Given the description of an element on the screen output the (x, y) to click on. 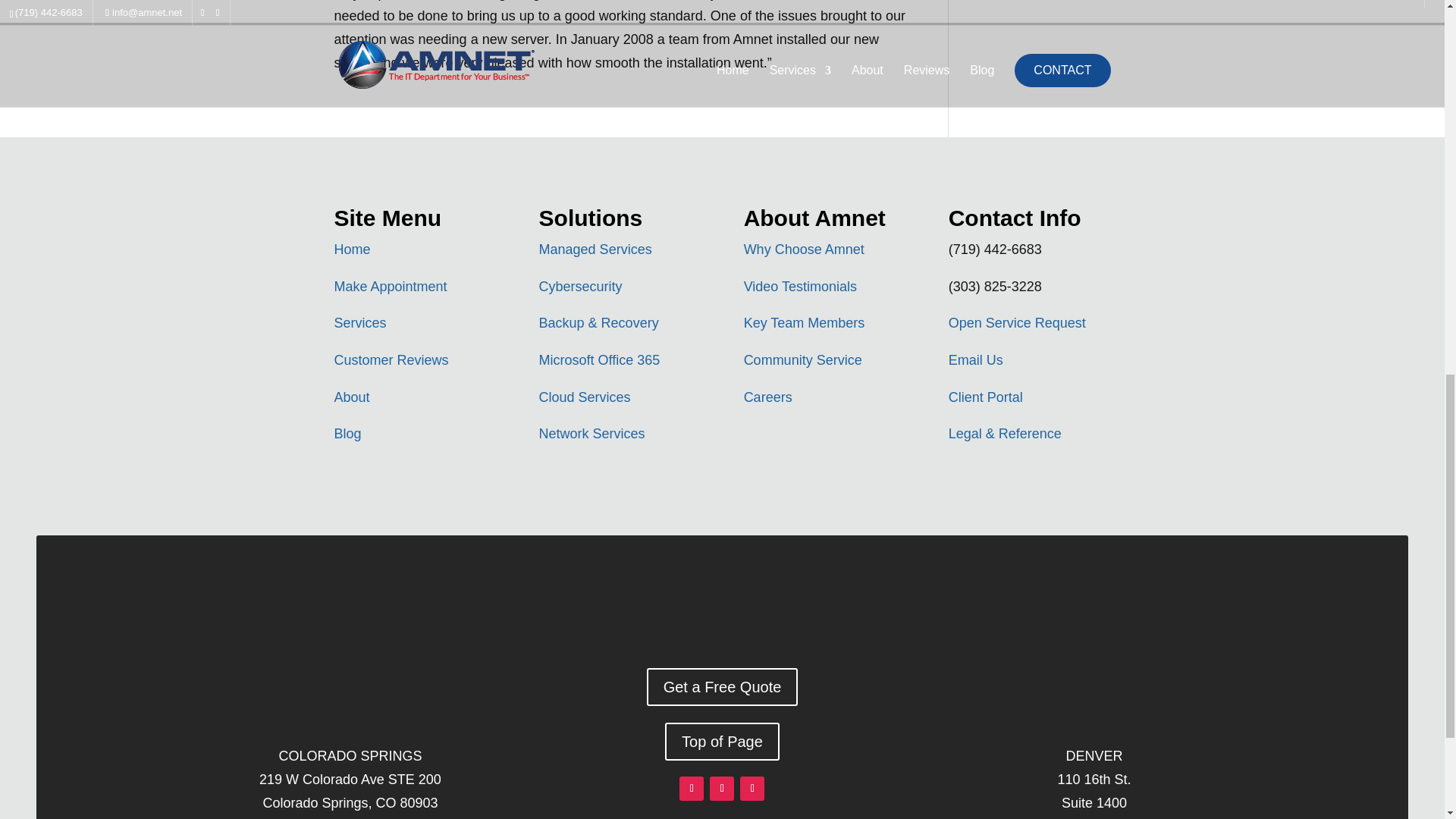
About (351, 396)
Follow on LinkedIn (751, 788)
Home (351, 249)
Managed Services (595, 249)
Services (359, 322)
Follow on X (721, 788)
Make Appointment (389, 286)
Why Choose Amnet (804, 249)
Blog (347, 433)
Cloud Services (584, 396)
Network Services (591, 433)
Follow on Facebook (691, 788)
Customer Reviews (390, 359)
Microsoft Office 365 (599, 359)
Cybersecurity (580, 286)
